Given the description of an element on the screen output the (x, y) to click on. 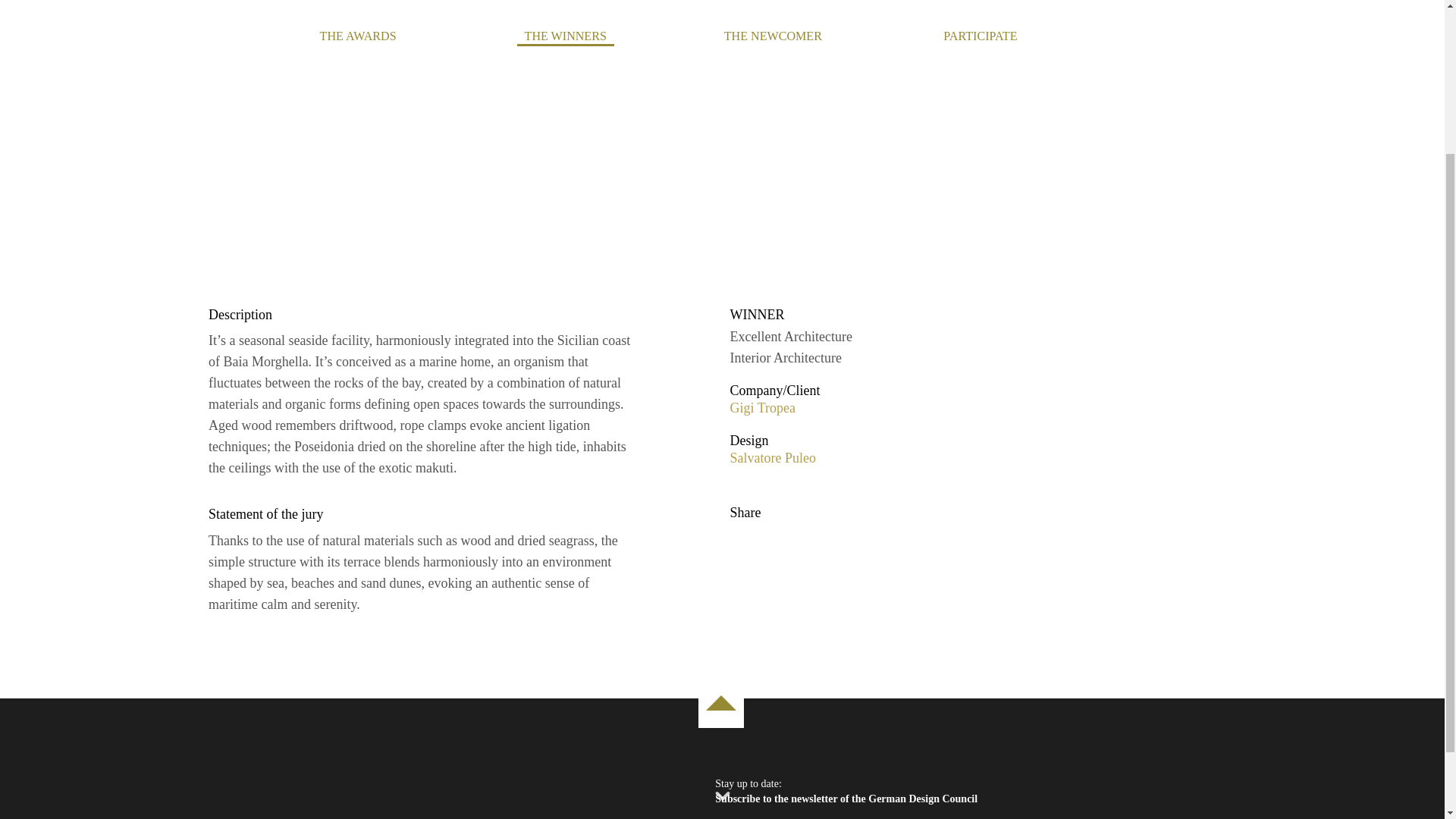
Gigi Tropea (761, 407)
Salvatore Puleo (772, 458)
